Given the description of an element on the screen output the (x, y) to click on. 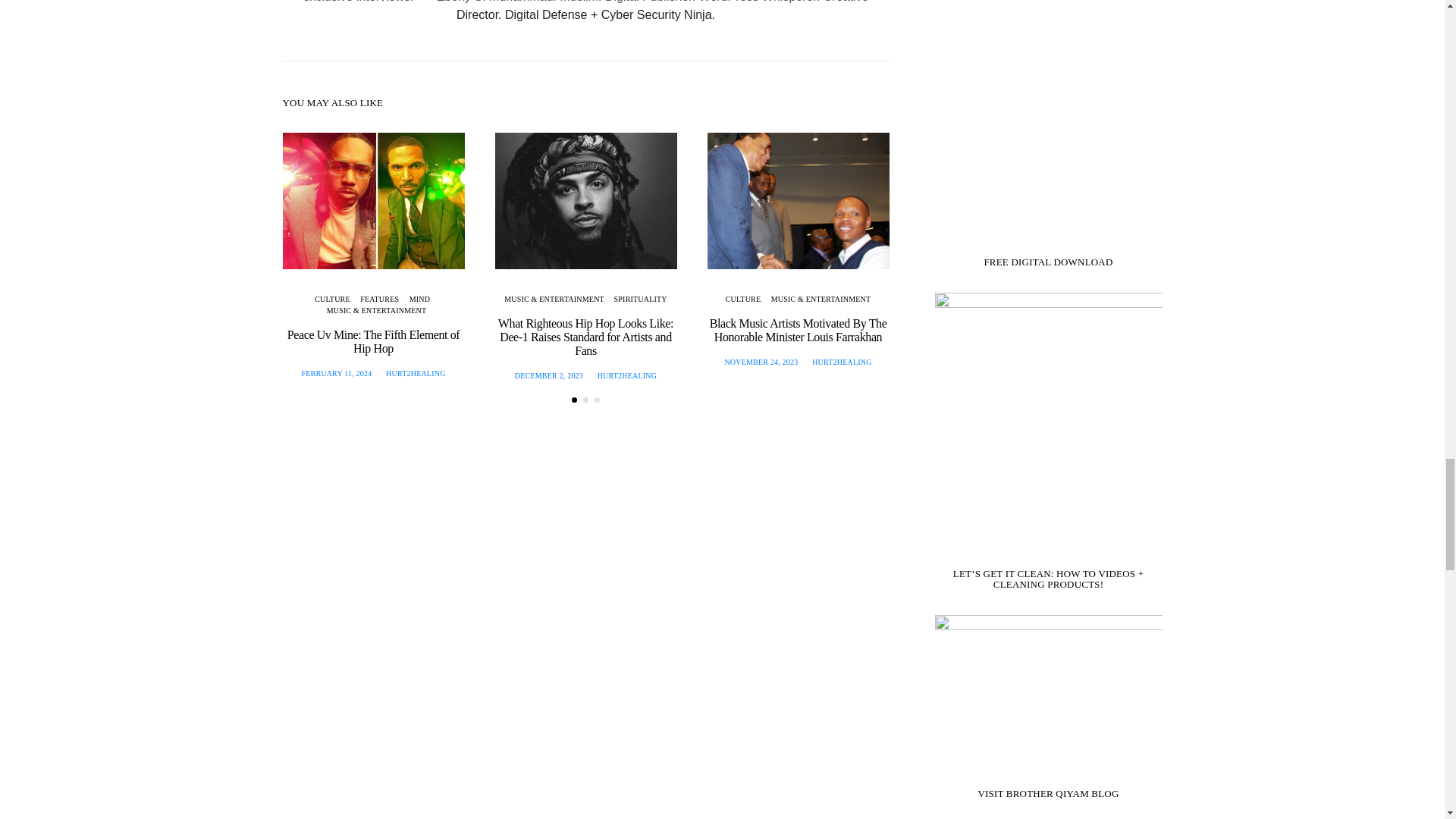
View all posts by Hurt2Healing (415, 373)
View all posts by Hurt2Healing (841, 361)
View all posts by Hurt2Healing (626, 375)
